Given the description of an element on the screen output the (x, y) to click on. 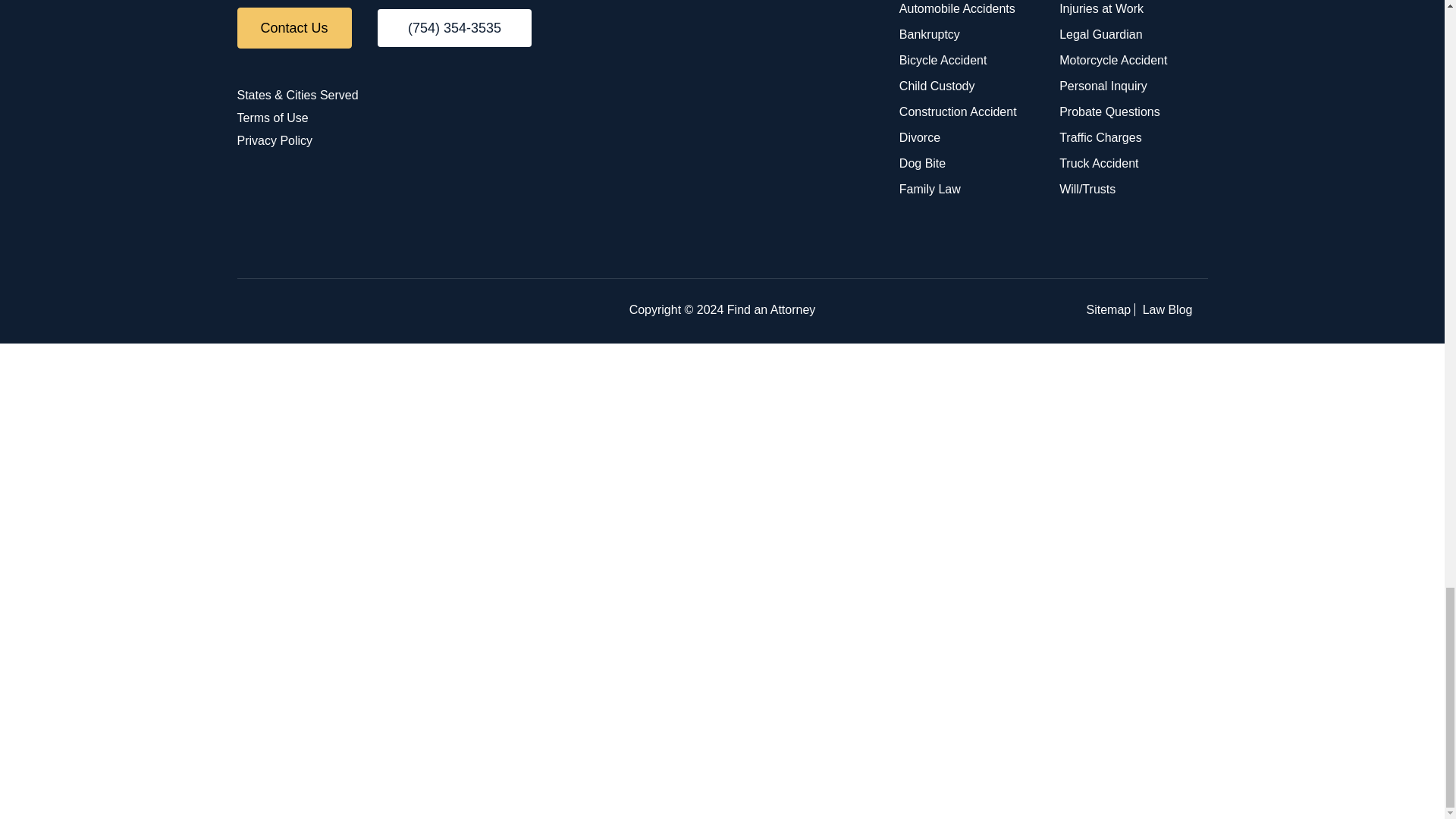
Dog Bite (921, 163)
Motorcycle Accident (1113, 60)
Bankruptcy (929, 33)
Bicycle Accident (943, 60)
Sitemap (1108, 309)
Traffic Charges (1100, 137)
Probate Questions (1109, 111)
Privacy Policy (274, 140)
Truck Accident (1098, 163)
Family Law (929, 188)
